Given the description of an element on the screen output the (x, y) to click on. 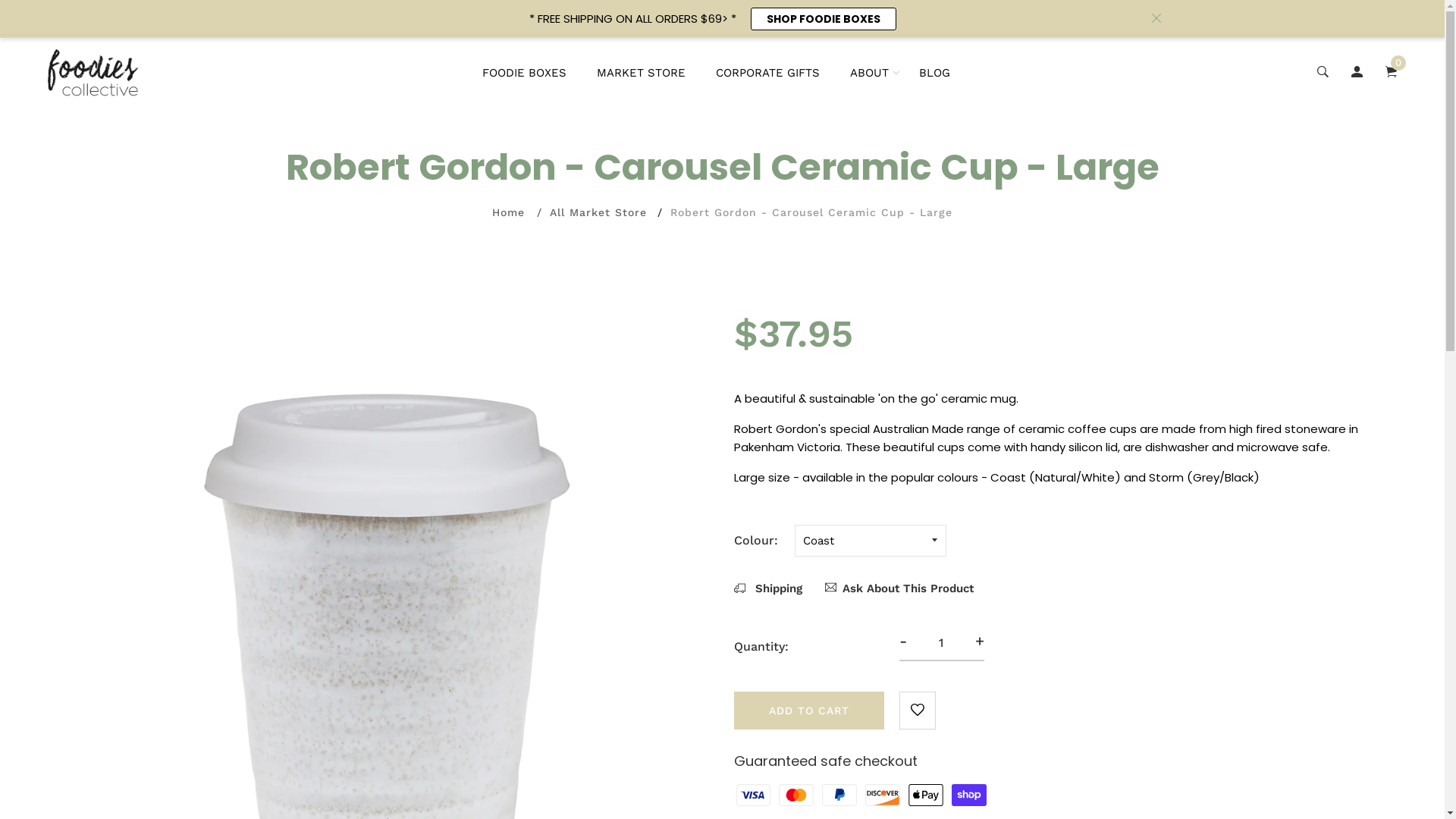
MARKET STORE Element type: text (640, 72)
ABOUT Element type: text (869, 72)
ADD TO CART Element type: text (809, 710)
FOODIE BOXES Element type: text (524, 72)
+ Element type: text (979, 640)
SHOP FOODIE BOXES Element type: text (823, 18)
Ask About This Product Element type: text (899, 588)
Shipping Element type: text (768, 588)
BLOG Element type: text (934, 72)
CORPORATE GIFTS Element type: text (767, 72)
Home Element type: text (508, 212)
All Market Store Element type: text (597, 212)
- Element type: text (902, 640)
0 Element type: text (1390, 72)
